Given the description of an element on the screen output the (x, y) to click on. 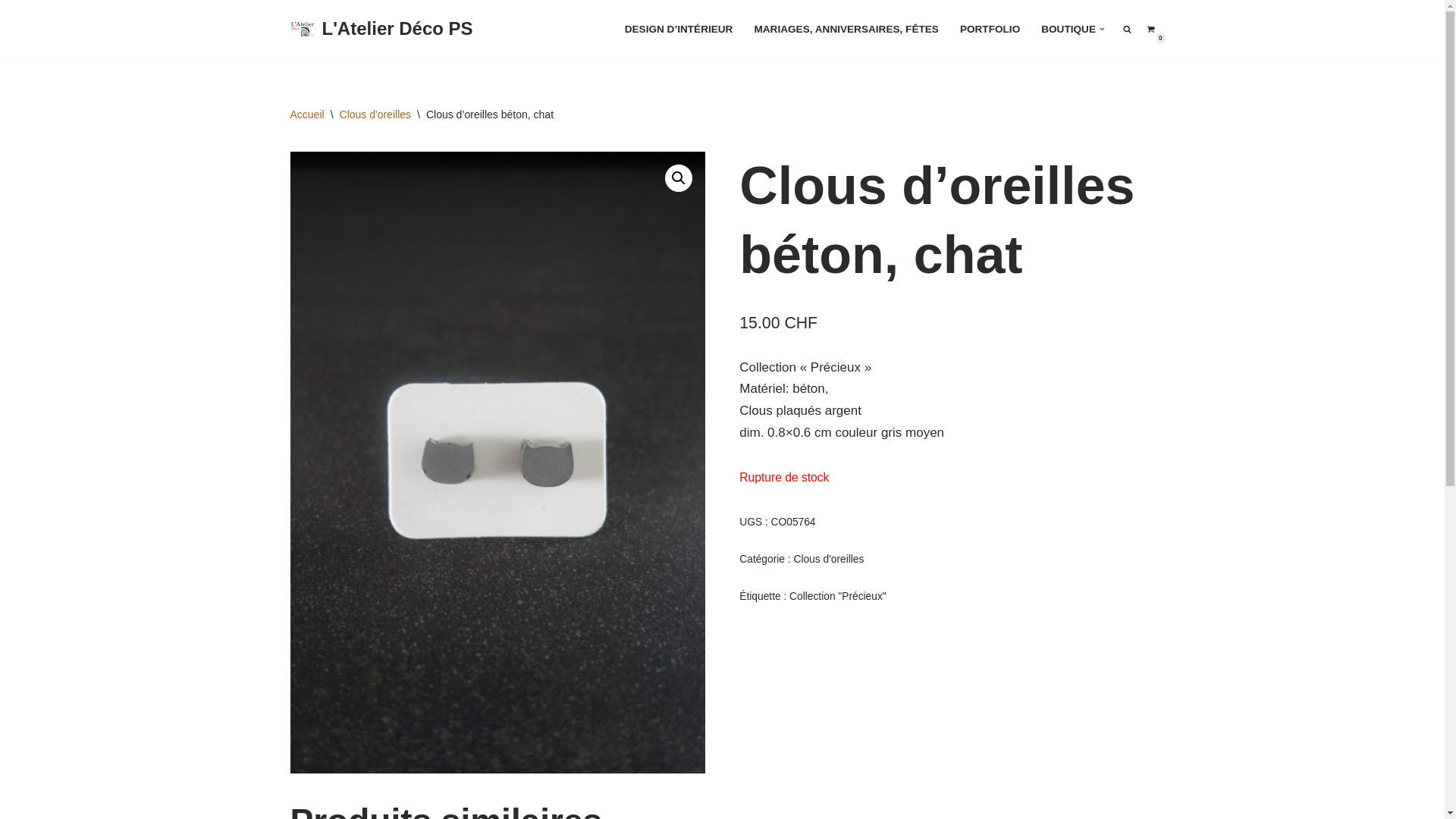
0 Element type: text (1150, 28)
Clous d'oreilles Element type: text (375, 114)
BOUTIQUE Element type: text (1068, 28)
Accueil Element type: text (306, 114)
CO05764 Element type: hover (496, 462)
Aller au contenu Element type: text (11, 31)
PORTFOLIO Element type: text (989, 28)
Clous d'oreilles Element type: text (828, 558)
